Given the description of an element on the screen output the (x, y) to click on. 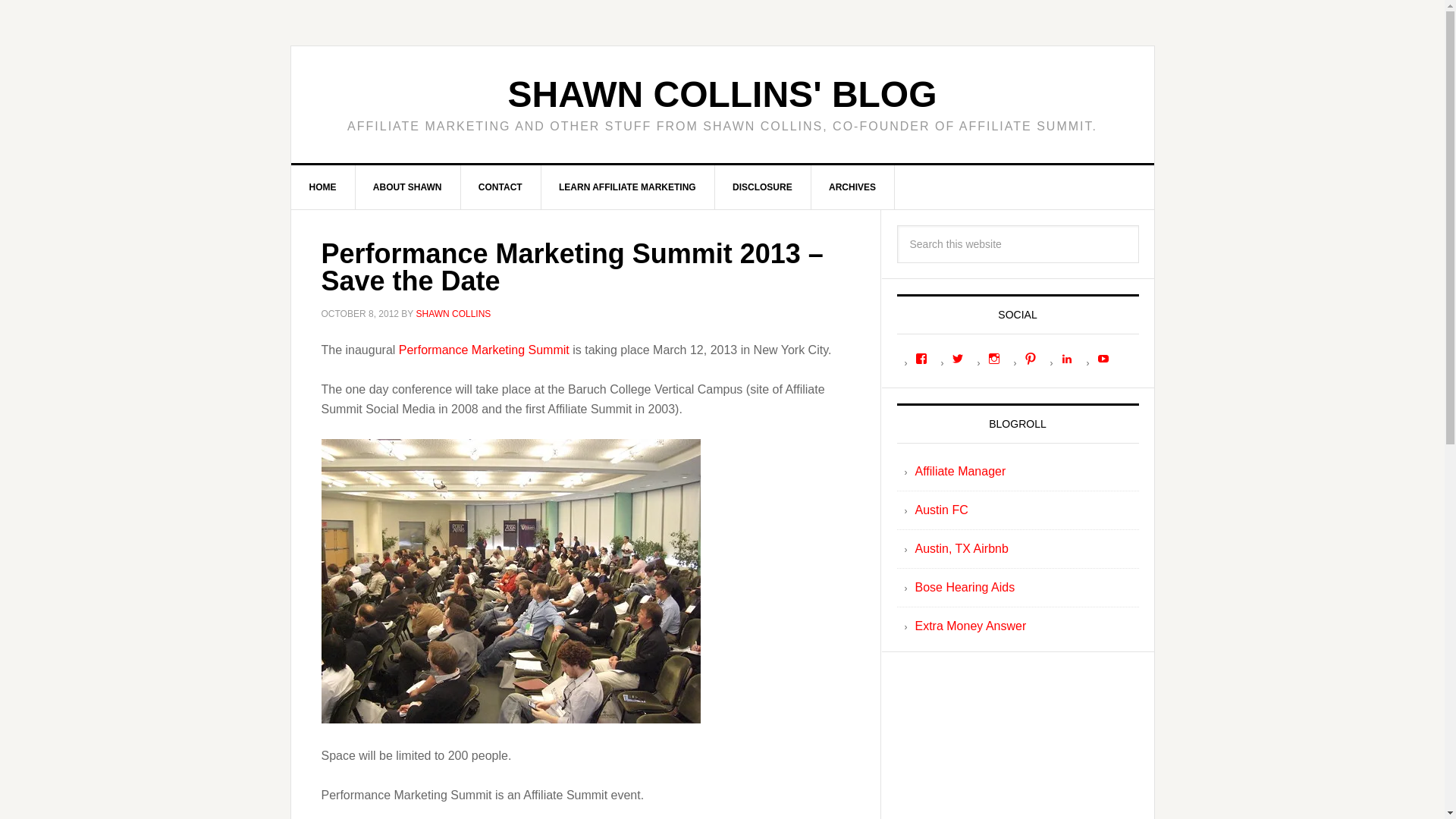
Performance Marketing Summit (483, 349)
Bose Hearing Aids (964, 586)
Austin, TX Airbnb (960, 548)
ABOUT SHAWN (408, 187)
LEARN AFFILIATE MARKETING (627, 187)
Austin FC (941, 509)
DISCLOSURE (762, 187)
SHAWN COLLINS (452, 313)
SHAWN COLLINS' BLOG (721, 94)
CONTACT (500, 187)
ARCHIVES (852, 187)
HOME (323, 187)
